Given the description of an element on the screen output the (x, y) to click on. 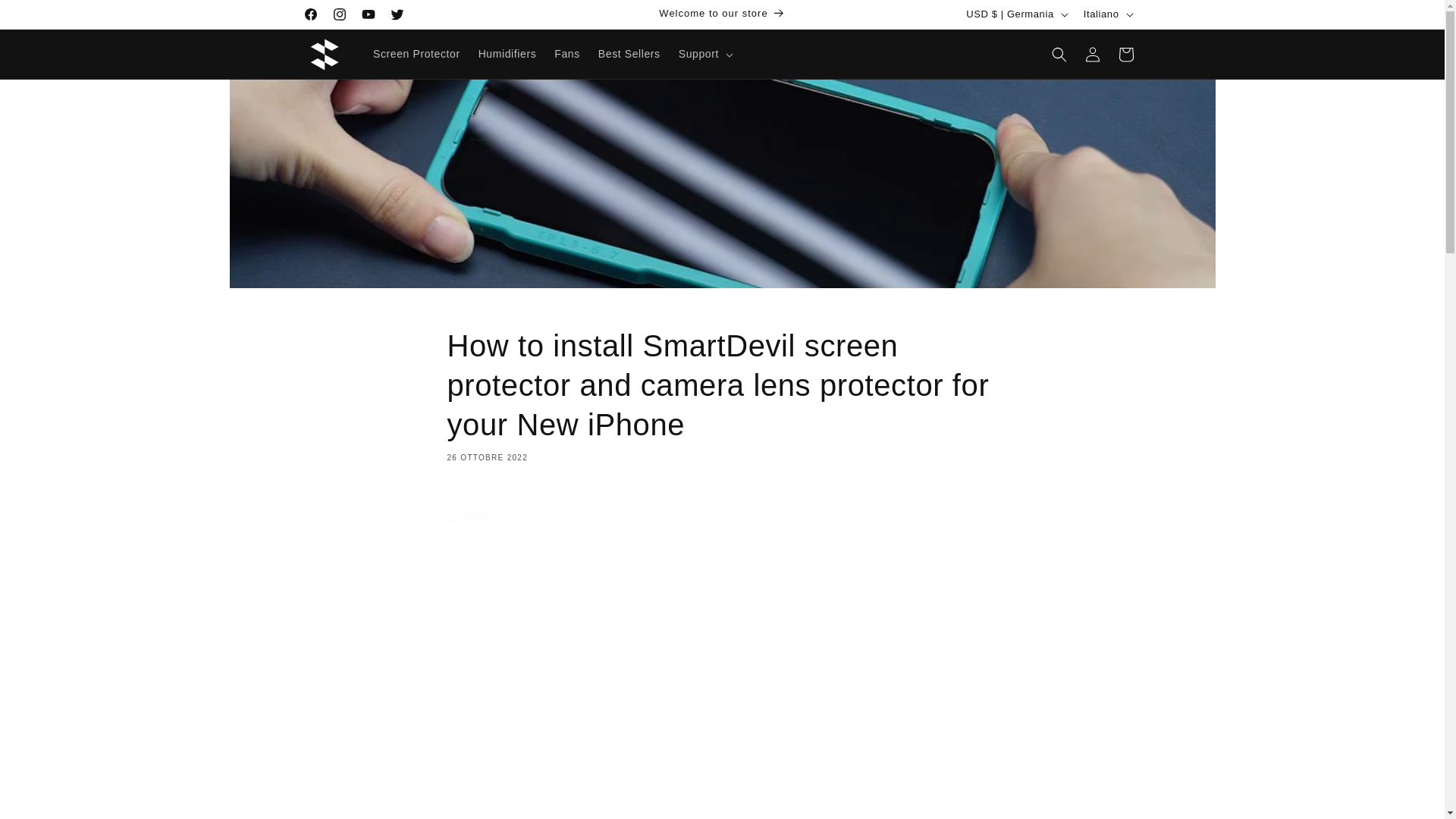
Best Sellers (629, 53)
Instagram (338, 14)
Vai direttamente ai contenuti (45, 17)
Twitter (395, 14)
YouTube (367, 14)
Screen Protector (416, 53)
Fans (566, 53)
Share (721, 516)
Humidifiers (507, 53)
Facebook (309, 14)
Italiano (1107, 14)
Welcome to our store (721, 14)
